Given the description of an element on the screen output the (x, y) to click on. 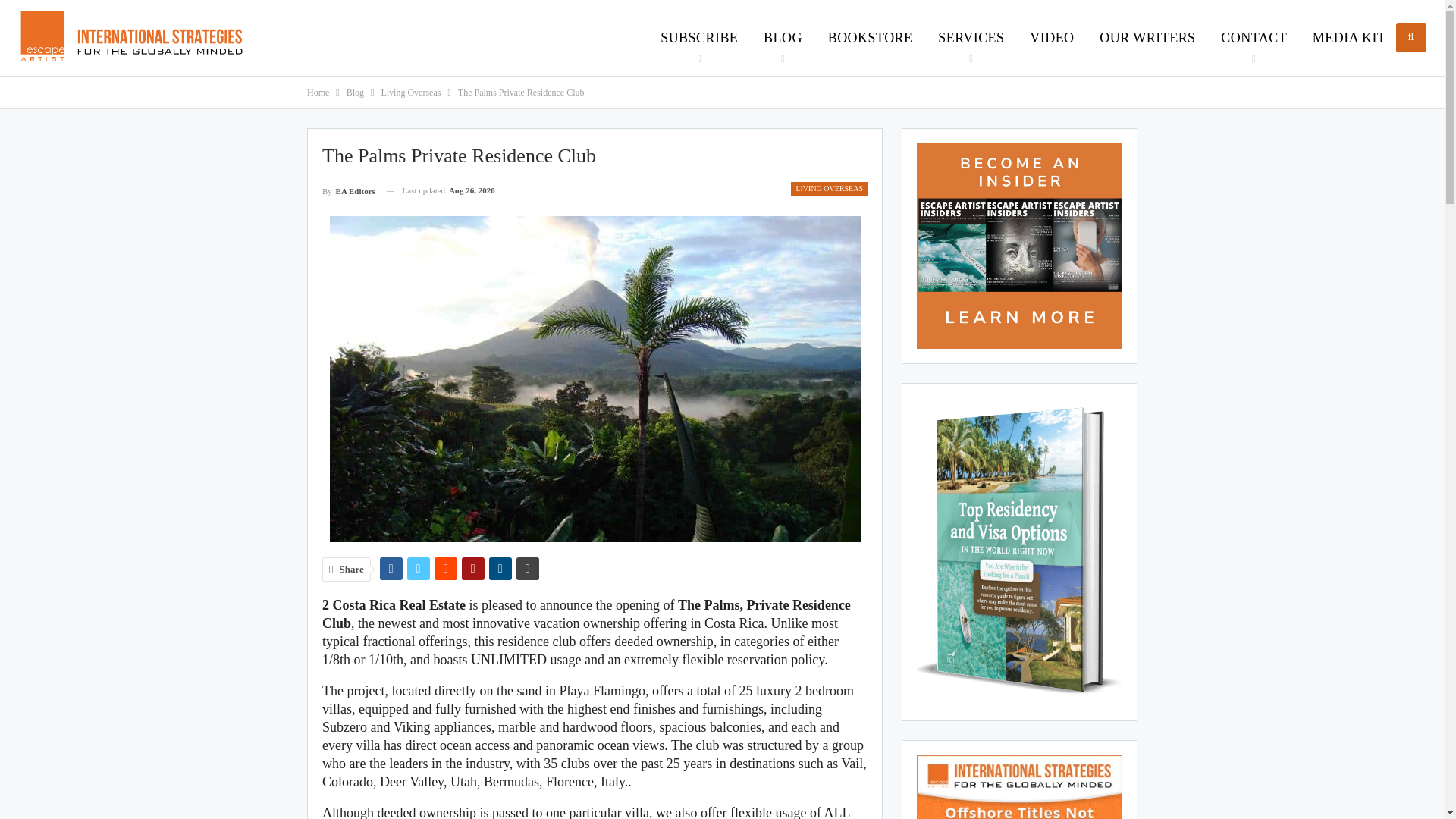
By EA Editors (348, 190)
share (391, 568)
EA-logo (130, 35)
OUR WRITERS (1147, 37)
SERVICES (970, 37)
share (527, 568)
Blog (355, 92)
SUBSCRIBE (699, 37)
BLOG (782, 37)
CONTACT (1253, 37)
share (472, 568)
Living Overseas (410, 92)
LIVING OVERSEAS (828, 188)
BOOKSTORE (870, 37)
share (418, 568)
